Given the description of an element on the screen output the (x, y) to click on. 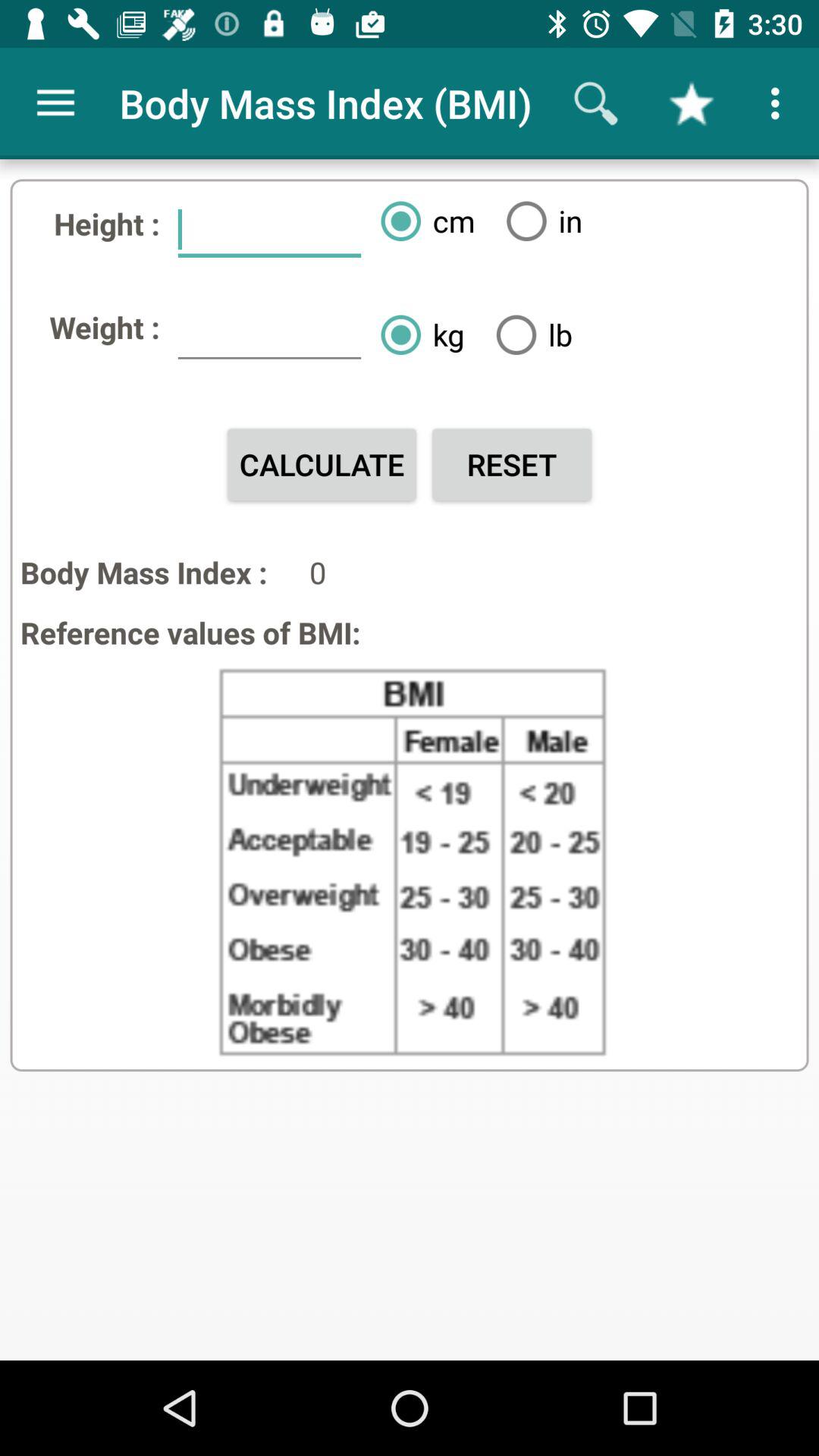
choose the icon next to body mass index item (55, 103)
